Given the description of an element on the screen output the (x, y) to click on. 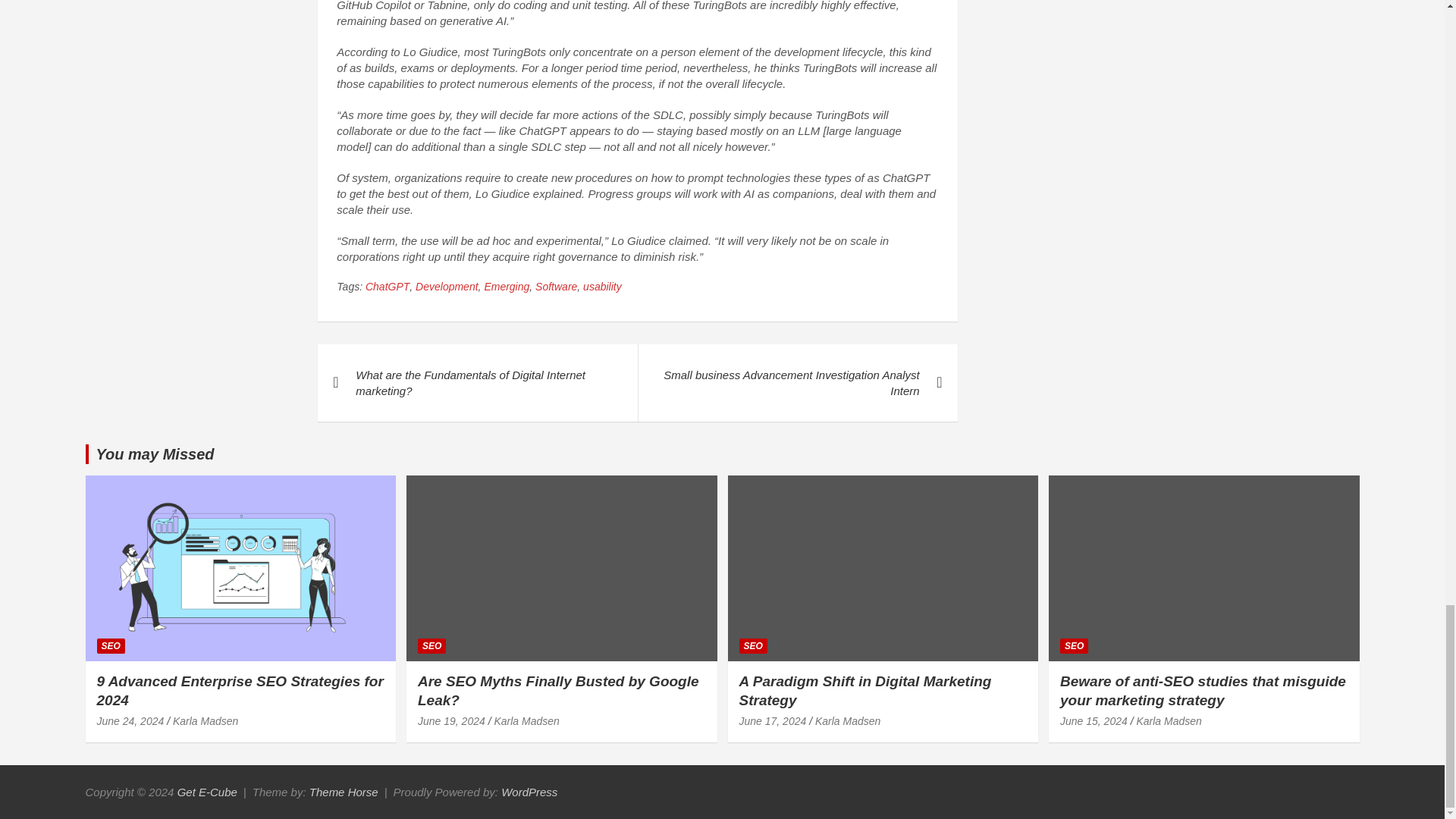
Are SEO Myths Finally Busted by Google Leak? (450, 720)
Software (555, 287)
A Paradigm Shift in Digital Marketing Strategy (772, 720)
Get E-Cube (207, 791)
Small business Advancement Investigation Analyst Intern (797, 382)
June 24, 2024 (130, 720)
9 Advanced Enterprise SEO Strategies for 2024 (240, 690)
Emerging (506, 287)
Theme Horse (343, 791)
SEO (111, 646)
usability (602, 287)
Development (446, 287)
9 Advanced Enterprise SEO Strategies for 2024 (130, 720)
You may Missed (155, 453)
